Given the description of an element on the screen output the (x, y) to click on. 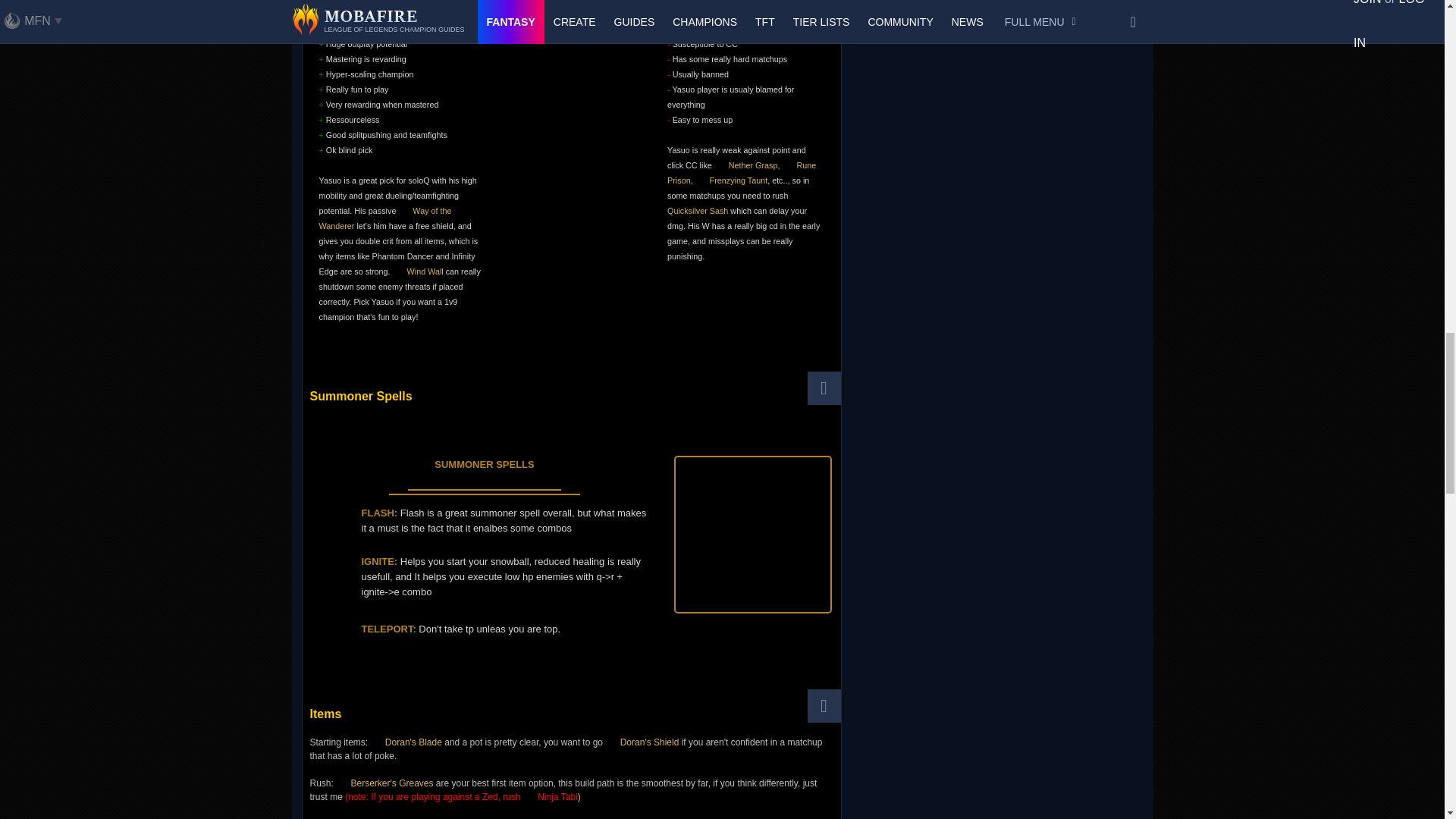
Way of the Wanderer (384, 218)
Teleport (525, 449)
Nether Grasp (745, 164)
Rune Prison (740, 172)
Brute Force (399, 2)
Frenzying Taunt (731, 180)
Ignite (485, 449)
Quicksilver Sash (734, 202)
High Noon Yasuo (574, 202)
Archaic Knowledge (745, 2)
